Given the description of an element on the screen output the (x, y) to click on. 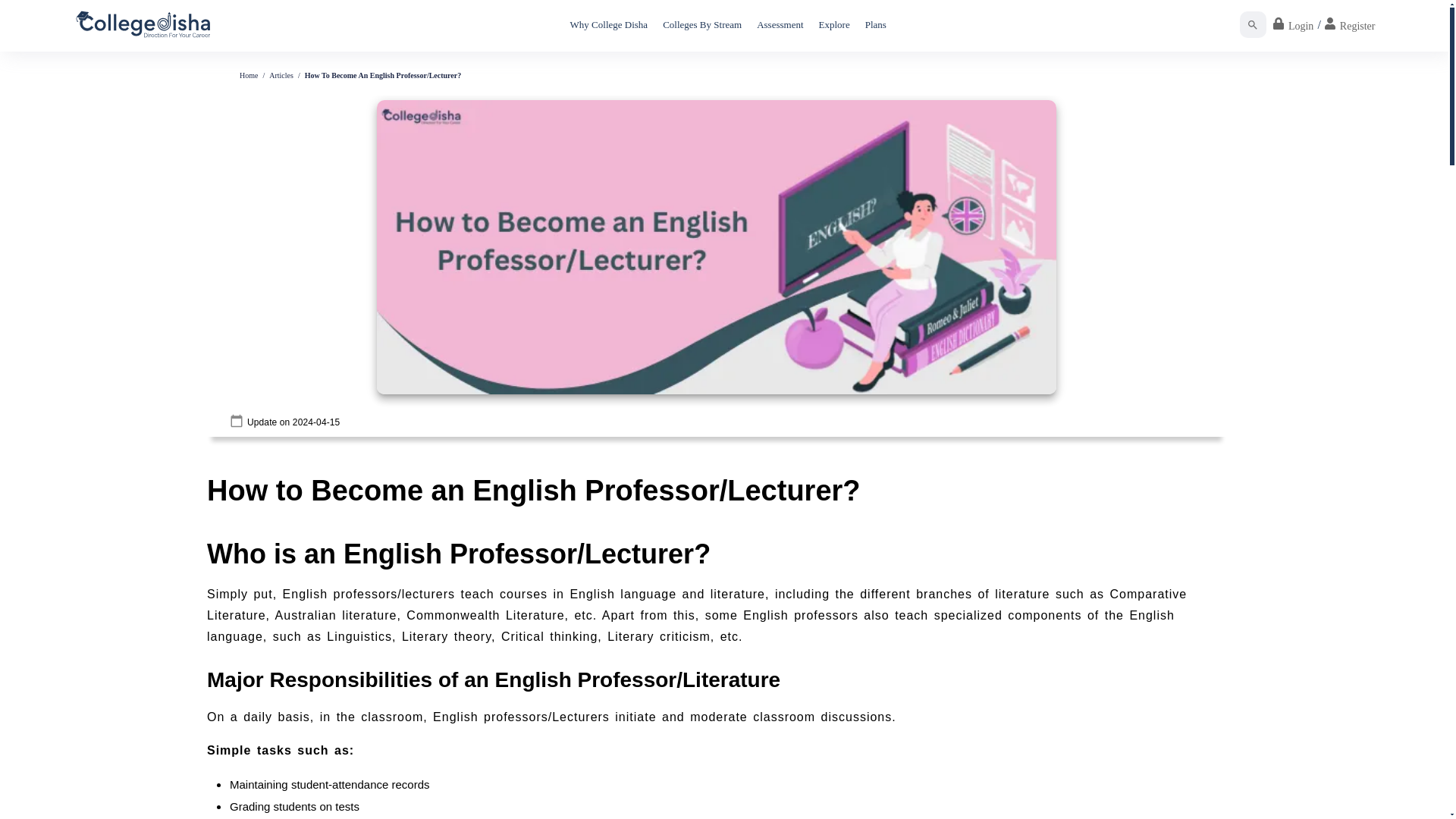
Register (1349, 23)
Colleges By Stream (702, 24)
Why College Disha (609, 24)
Search (1253, 24)
Login (1292, 23)
Plans (875, 24)
Home (248, 75)
Explore (834, 24)
Assessment (779, 24)
Articles (281, 75)
